Given the description of an element on the screen output the (x, y) to click on. 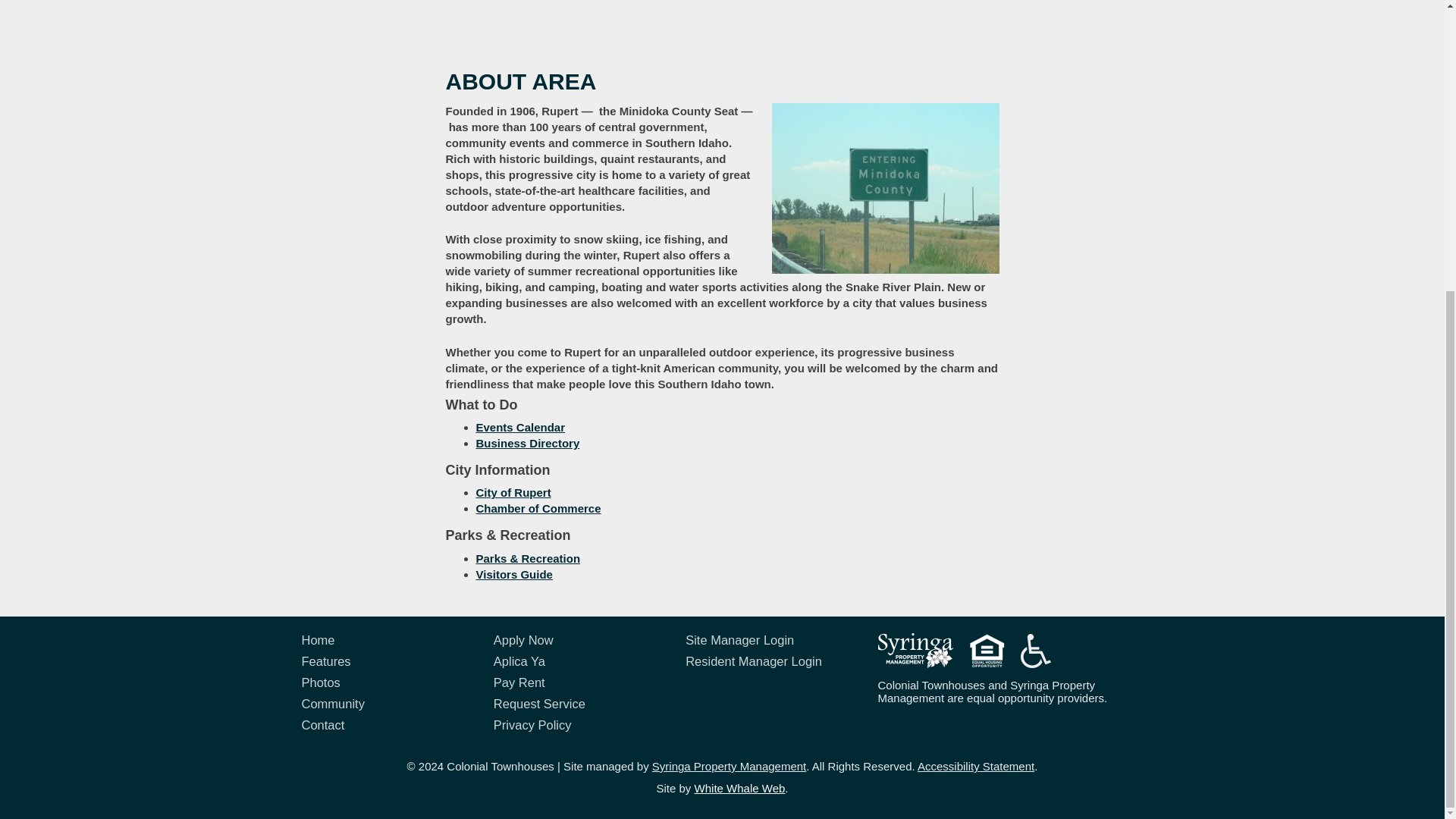
Home (385, 643)
Resident Manager Login (769, 664)
Pay Rent (577, 685)
Syringa Property Management (729, 766)
Apply Now (577, 643)
Photos (385, 685)
Contact (385, 728)
Aplica Ya (577, 664)
Events Calendar (521, 427)
Accessibility Statement (975, 766)
